Given the description of an element on the screen output the (x, y) to click on. 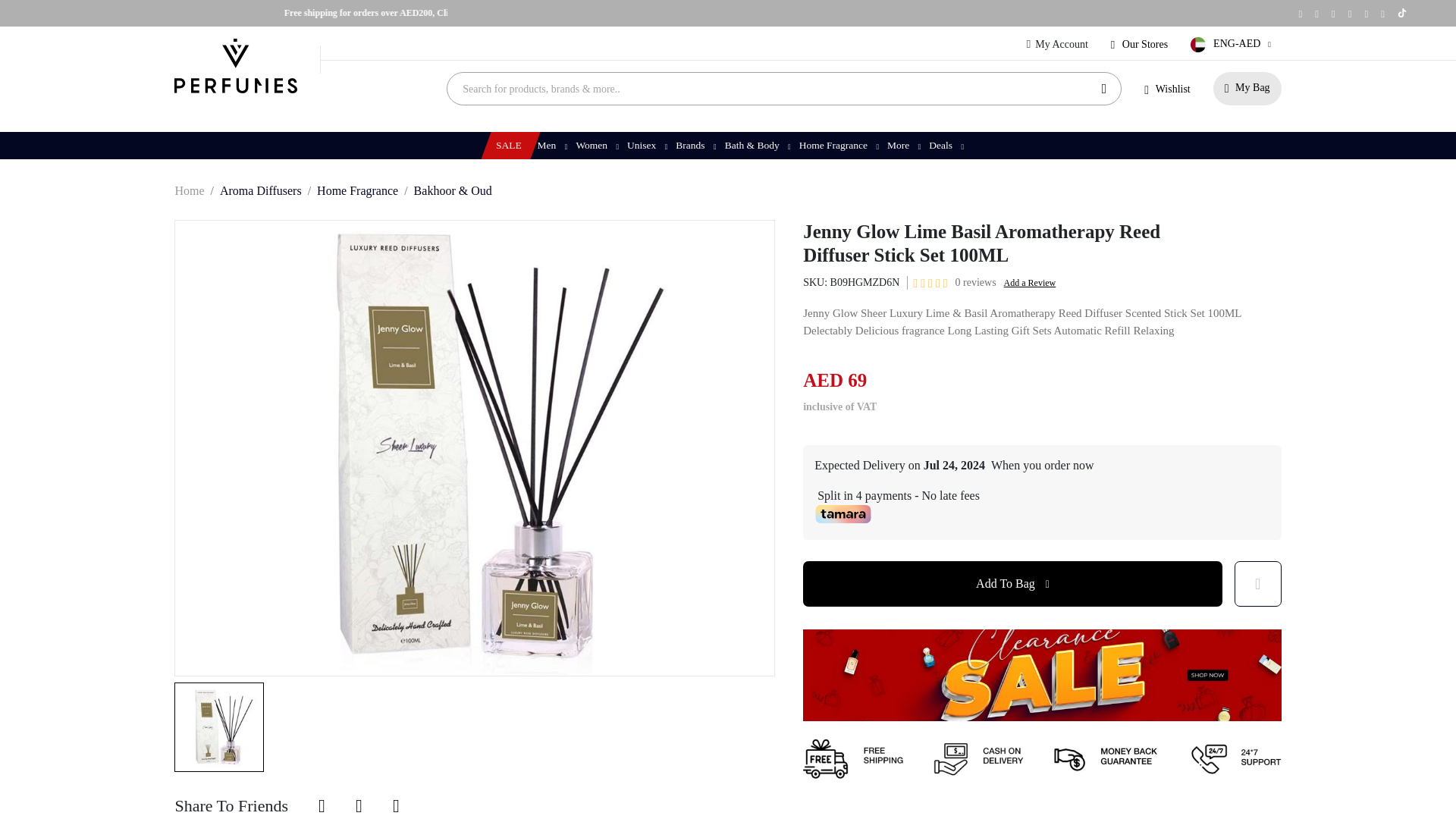
More (902, 144)
Wishlist (1166, 89)
SALE (507, 144)
Unisex (645, 144)
ENG-AED (1233, 44)
Home Fragrance (357, 190)
Men (551, 144)
Brands (694, 144)
Home Fragrance (837, 144)
Our Stores (1138, 43)
Deals (944, 144)
My Bag (1246, 88)
Women (595, 144)
Aroma Diffusers (260, 190)
